Given the description of an element on the screen output the (x, y) to click on. 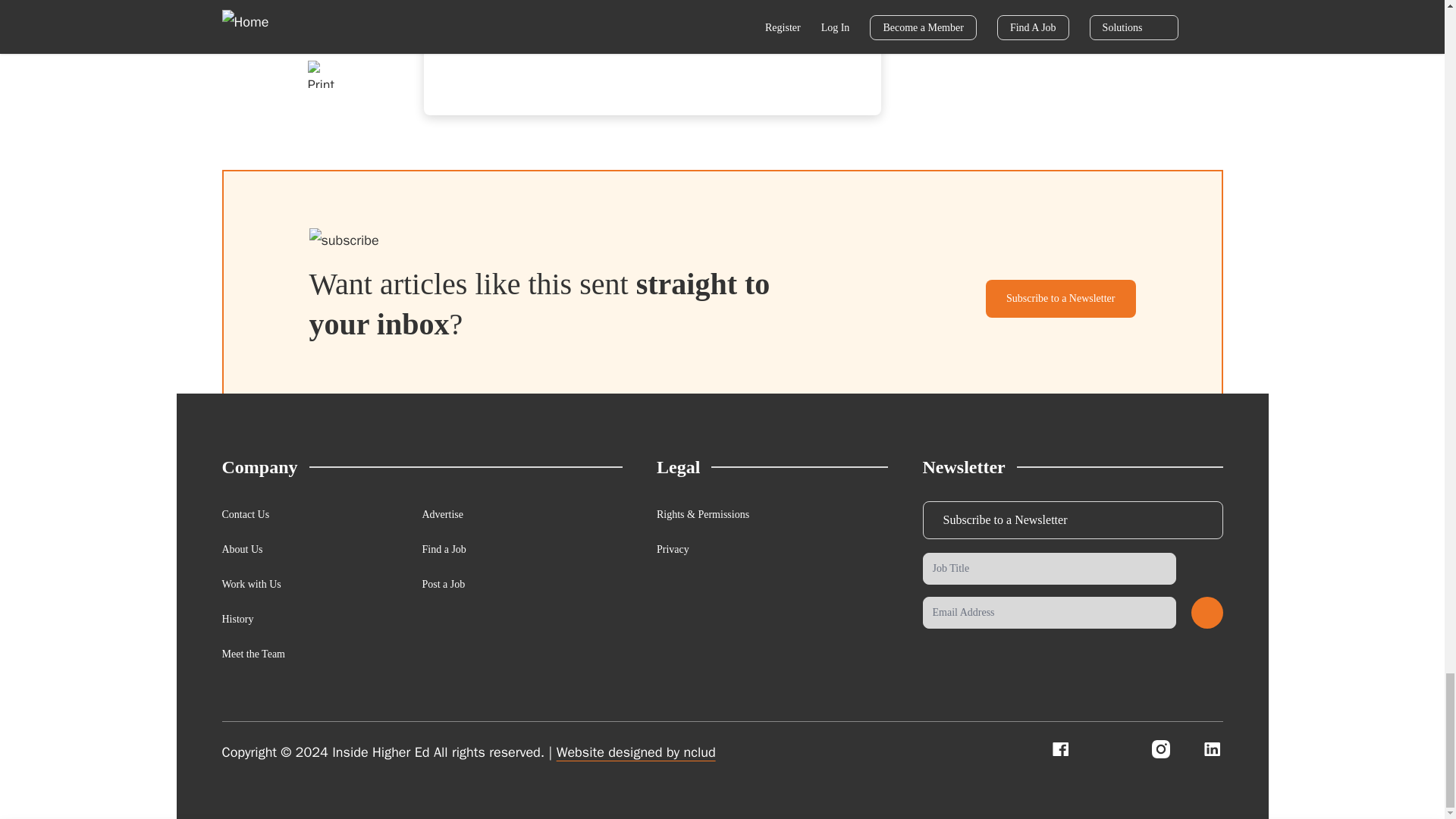
Submit (1207, 612)
